Given the description of an element on the screen output the (x, y) to click on. 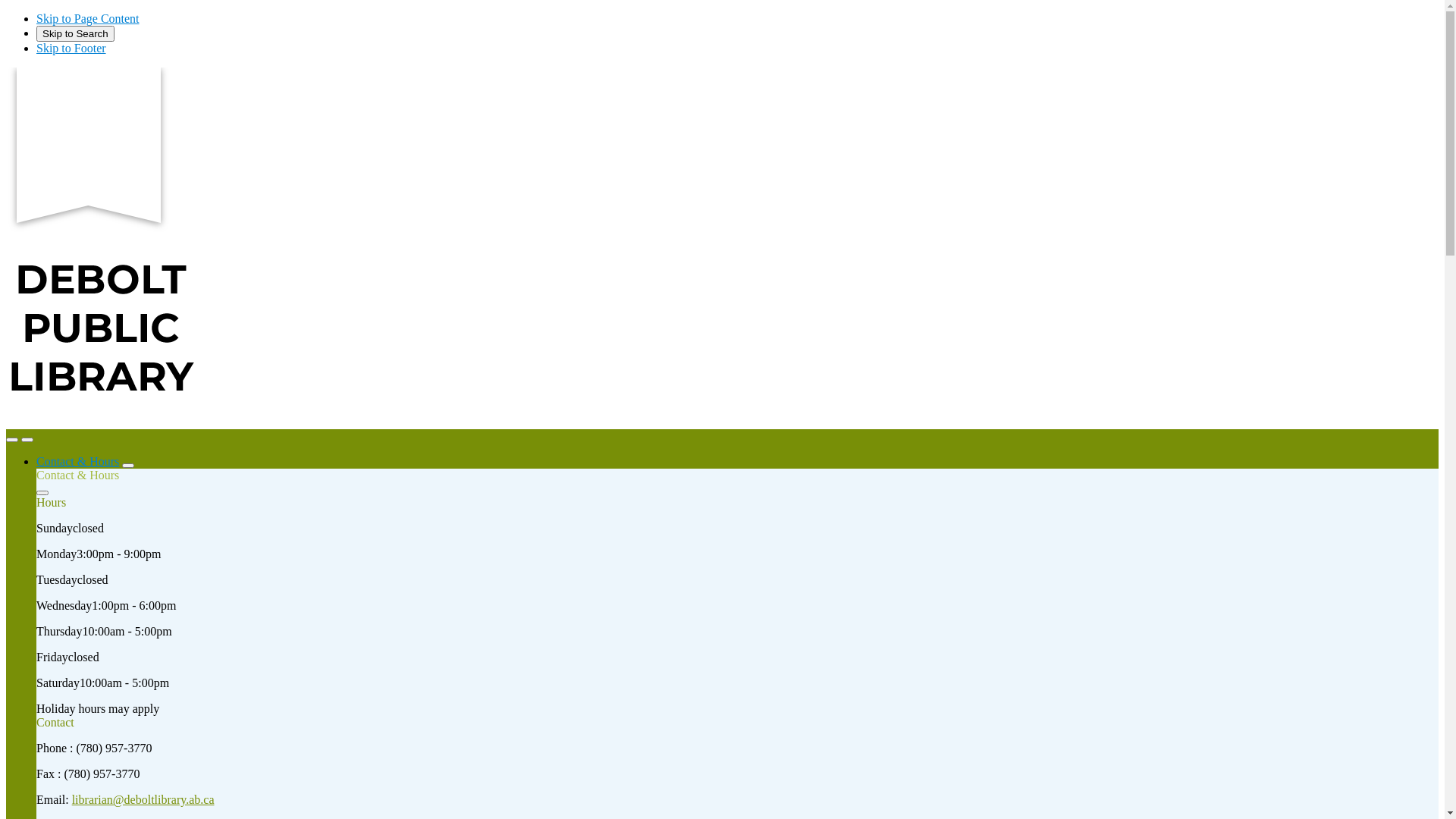
librarian@deboltlibrary.ab.ca Element type: text (143, 799)
Skip to Search Element type: text (75, 33)
Contact & Hours Element type: text (77, 461)
DeBolt Public Library Element type: hover (100, 421)
Skip to Footer Element type: text (71, 47)
Skip to Page Content Element type: text (87, 18)
